Given the description of an element on the screen output the (x, y) to click on. 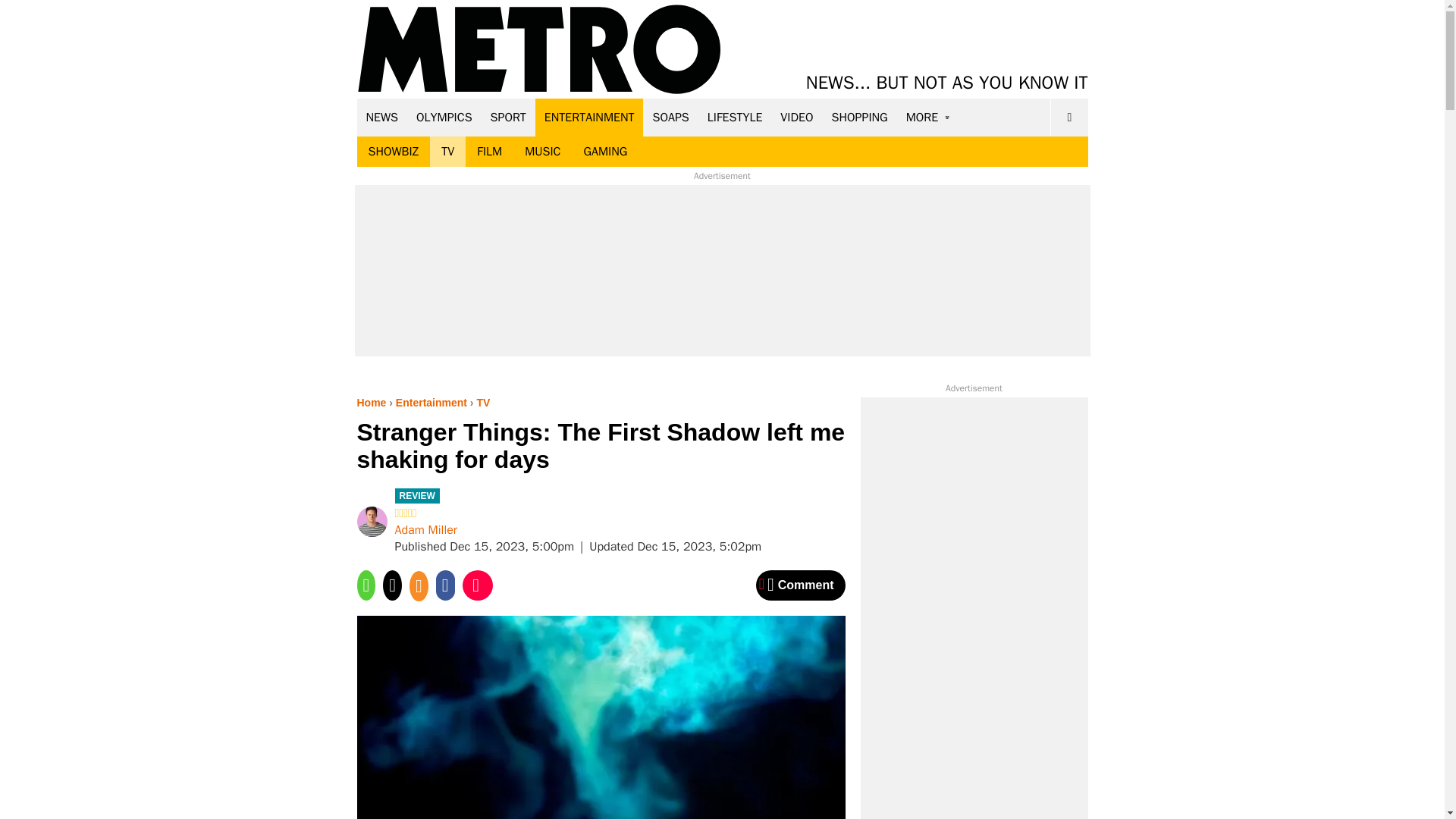
ENTERTAINMENT (589, 117)
OLYMPICS (444, 117)
LIFESTYLE (734, 117)
SPORT (508, 117)
NEWS (381, 117)
TV (447, 151)
Metro (539, 50)
MUSIC (542, 151)
GAMING (605, 151)
FILM (489, 151)
